Given the description of an element on the screen output the (x, y) to click on. 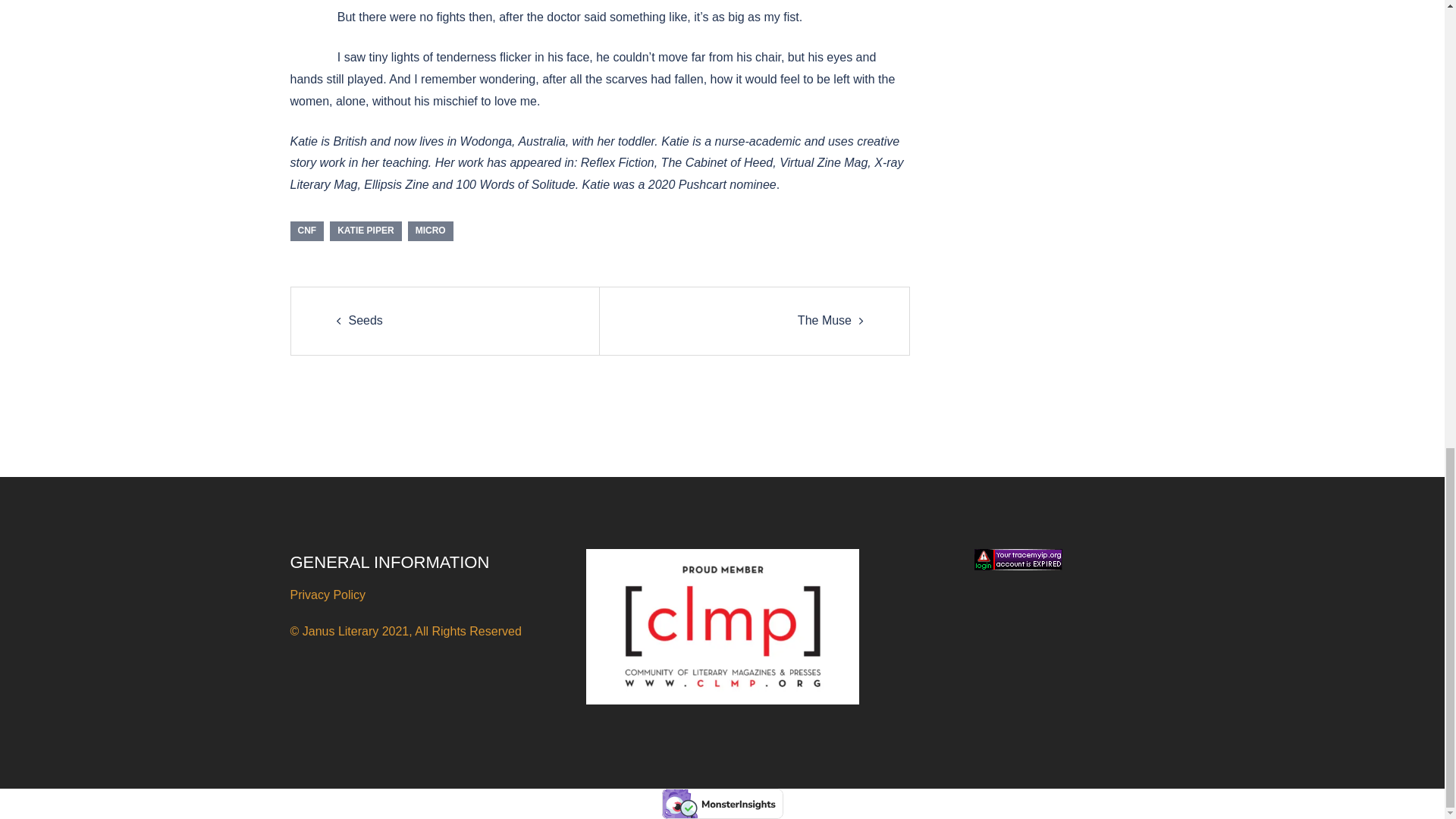
Privacy Policy (327, 594)
Seeds (365, 319)
The Muse (824, 319)
CNF (306, 230)
MICRO (429, 230)
KATIE PIPER (365, 230)
